Given the description of an element on the screen output the (x, y) to click on. 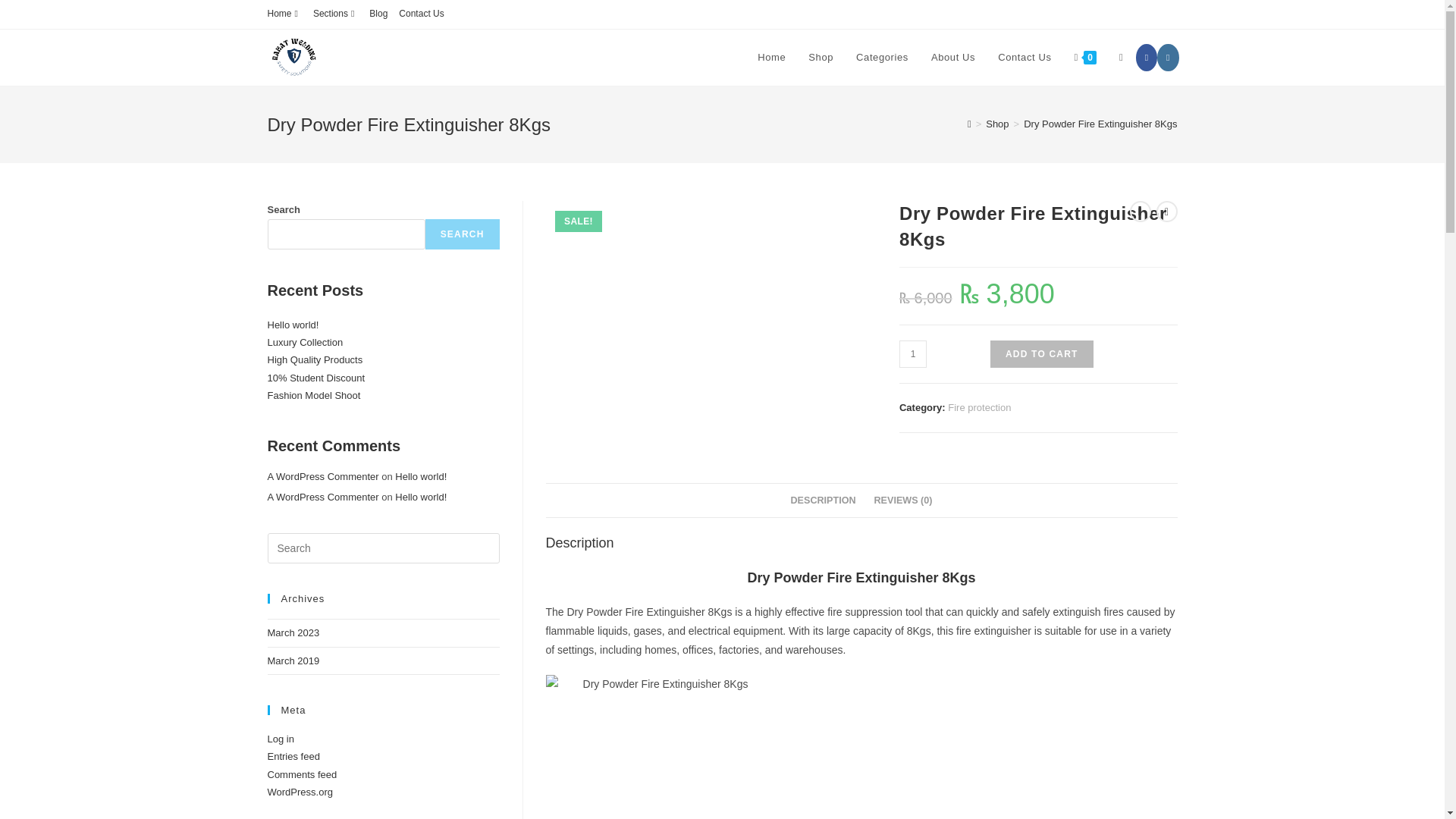
Sections (335, 13)
Categories (882, 57)
649 (1104, 24)
Home (283, 13)
Contact Us (1024, 57)
Home (770, 57)
